Given the description of an element on the screen output the (x, y) to click on. 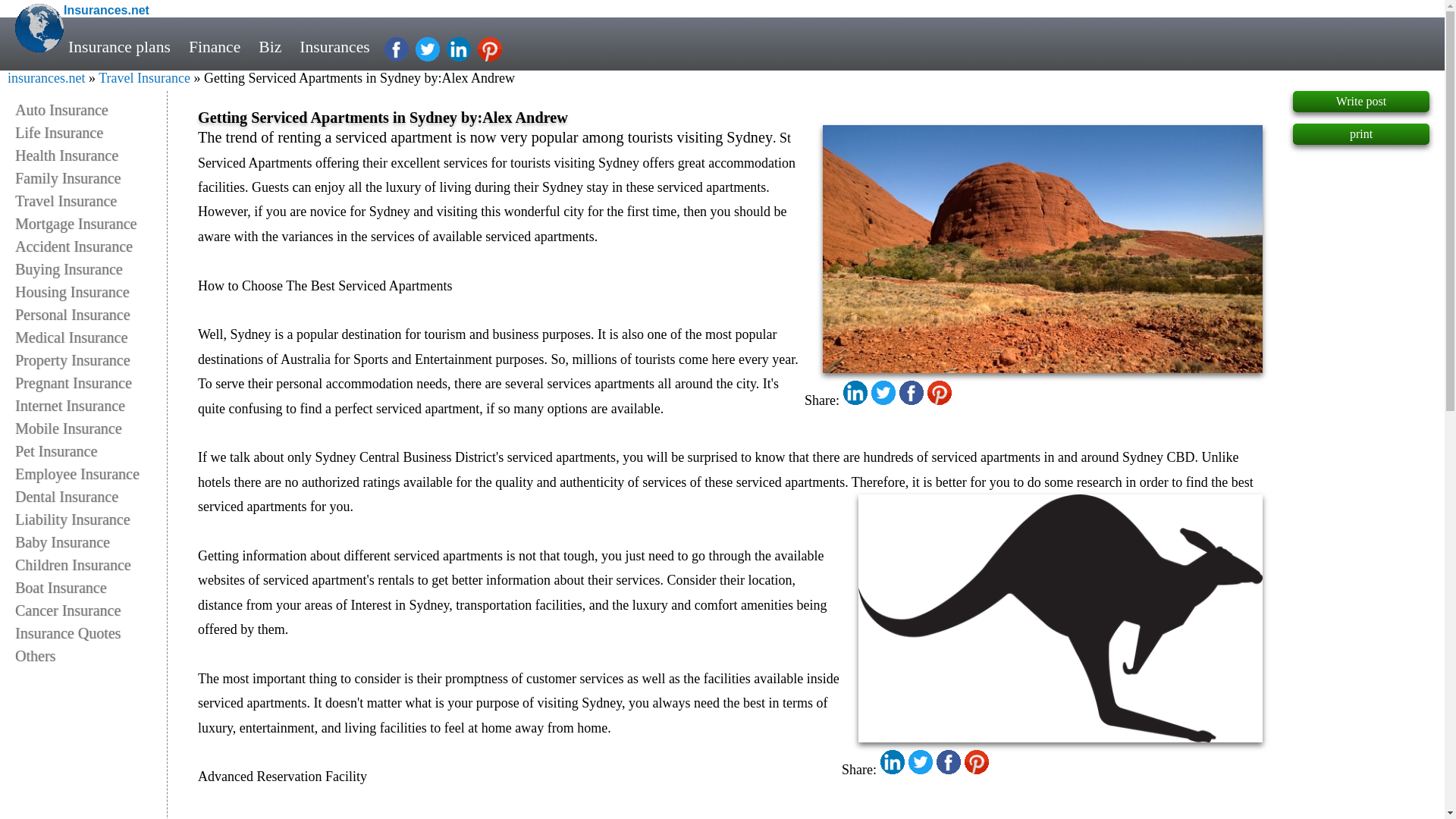
Pregnant Insurance (90, 382)
Travel Insurance (144, 77)
Buying Insurance (90, 268)
Insurance plans (119, 46)
Personal Insurance (90, 314)
Property Insurance (90, 359)
Health Insurance (90, 155)
Pet Insurance (90, 450)
Accident Insurance (90, 246)
Insurance Quotes (90, 632)
Insurances.net (106, 10)
Family Insurance (90, 178)
Housing Insurance (90, 291)
Life Insurance (90, 132)
Travel Insurance (90, 200)
